Given the description of an element on the screen output the (x, y) to click on. 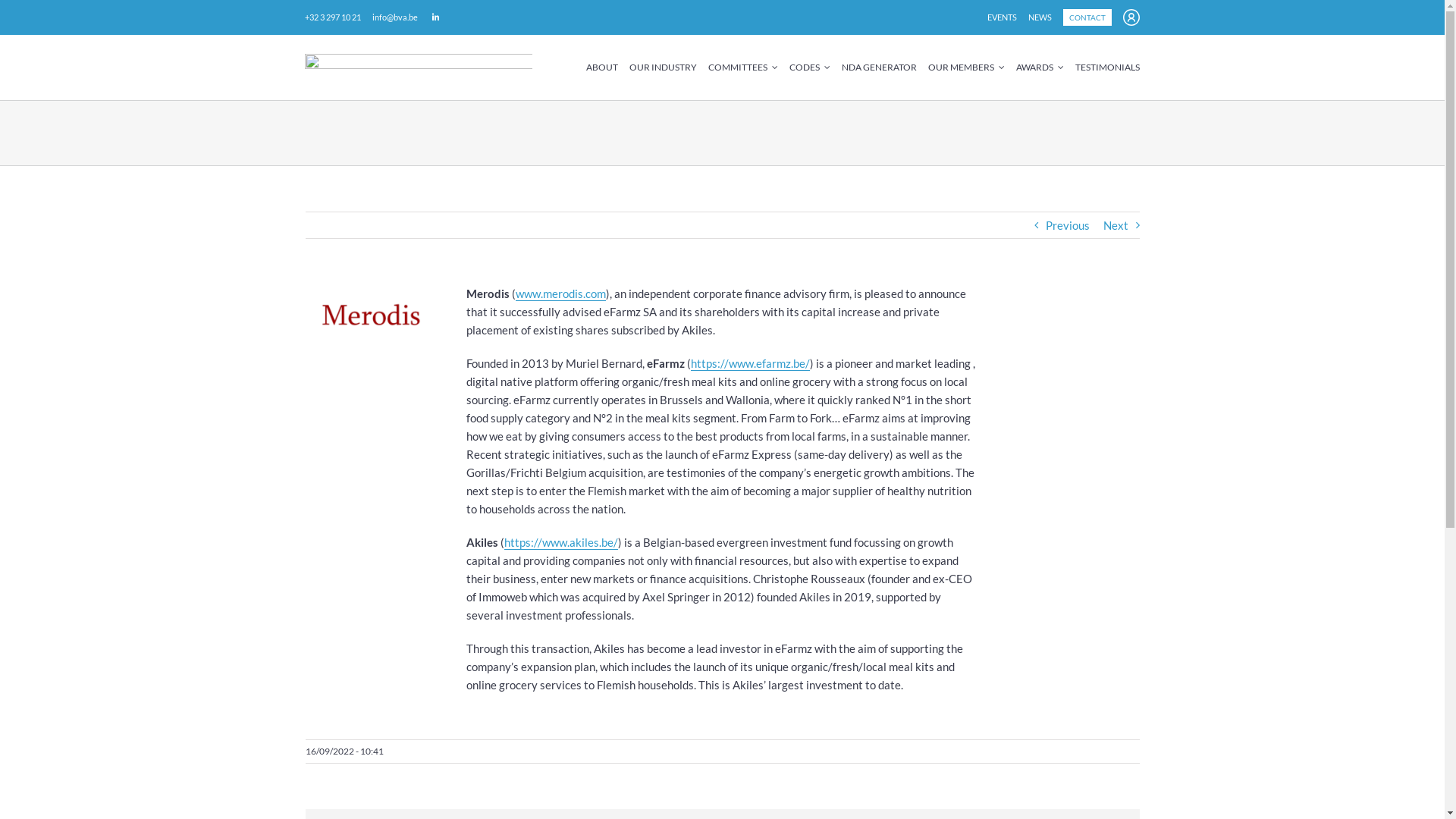
+32 3 297 10 21 Element type: text (332, 16)
www.merodis.com Element type: text (560, 293)
CONTACT Element type: text (1087, 17)
CODES Element type: text (809, 67)
TESTIMONIALS Element type: text (1107, 67)
NEWS Element type: text (1039, 17)
COMMITTEES Element type: text (743, 67)
ABOUT Element type: text (602, 67)
https://www.efarmz.be/ Element type: text (749, 363)
https://www.akiles.be/ Element type: text (561, 542)
Next Element type: text (1114, 225)
OUR INDUSTRY Element type: text (662, 67)
NDA GENERATOR Element type: text (878, 67)
AWARDS Element type: text (1039, 67)
LinkedIn Element type: text (435, 17)
EVENTS Element type: text (1001, 17)
info@bva.be Element type: text (394, 16)
Merodis bis Element type: hover (368, 316)
Previous Element type: text (1066, 225)
OUR MEMBERS Element type: text (966, 67)
